Given the description of an element on the screen output the (x, y) to click on. 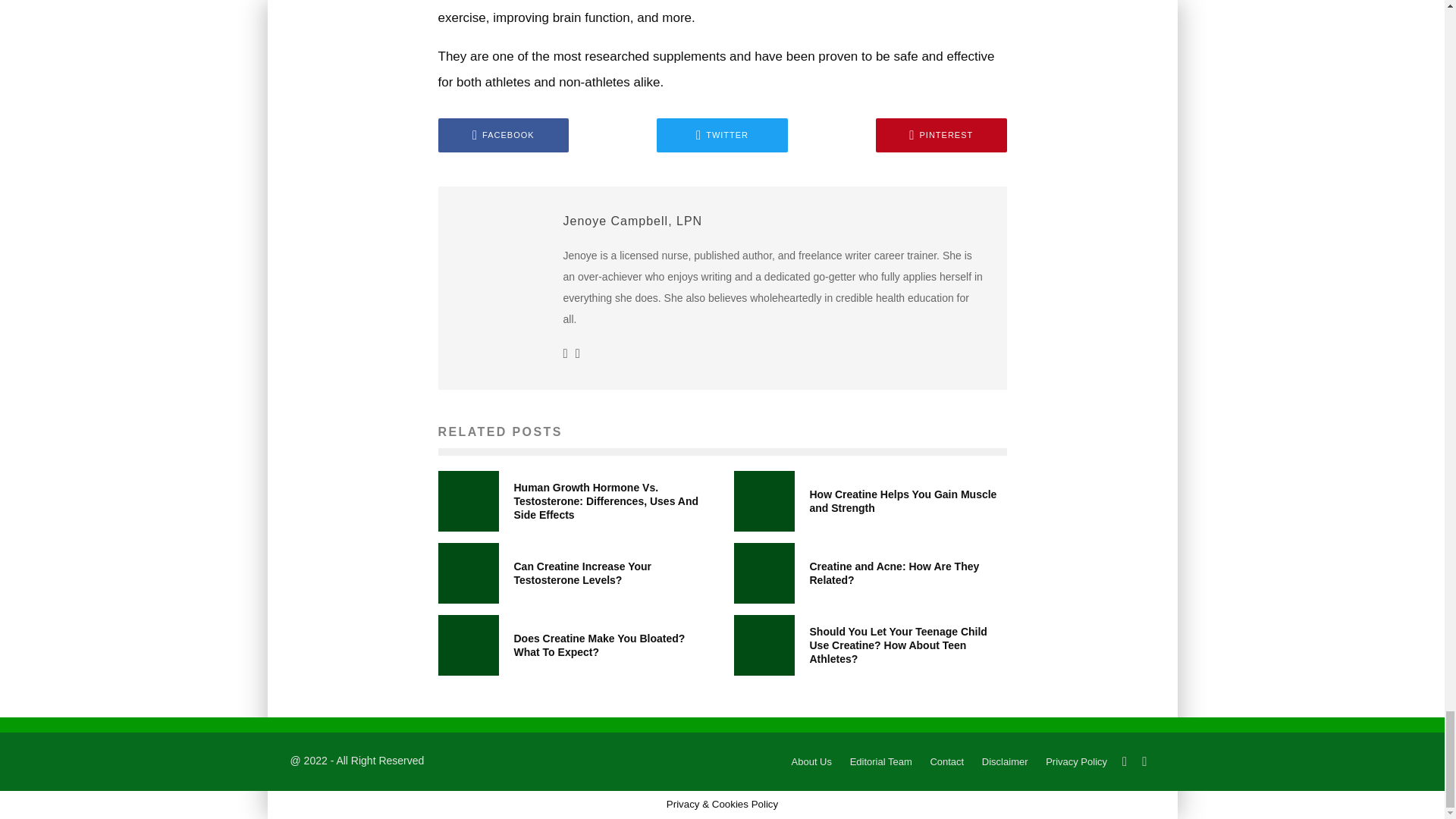
FACEBOOK (503, 134)
Jenoye Campbell, LPN (631, 220)
How Creatine Helps You Gain Muscle and Strength (903, 501)
TWITTER (721, 134)
PINTEREST (941, 134)
